Given the description of an element on the screen output the (x, y) to click on. 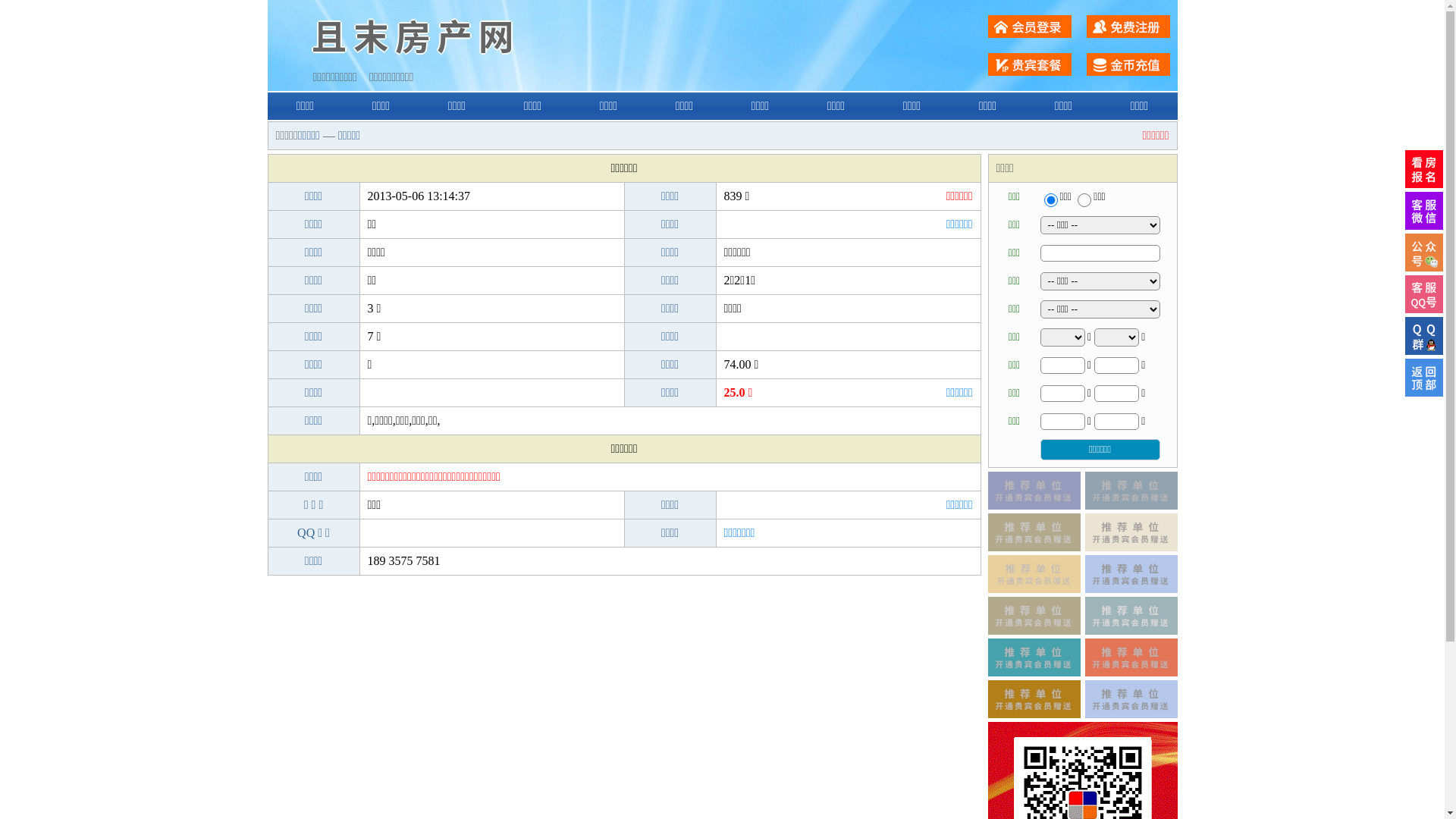
chuzu Element type: text (1084, 200)
ershou Element type: text (1050, 200)
